Given the description of an element on the screen output the (x, y) to click on. 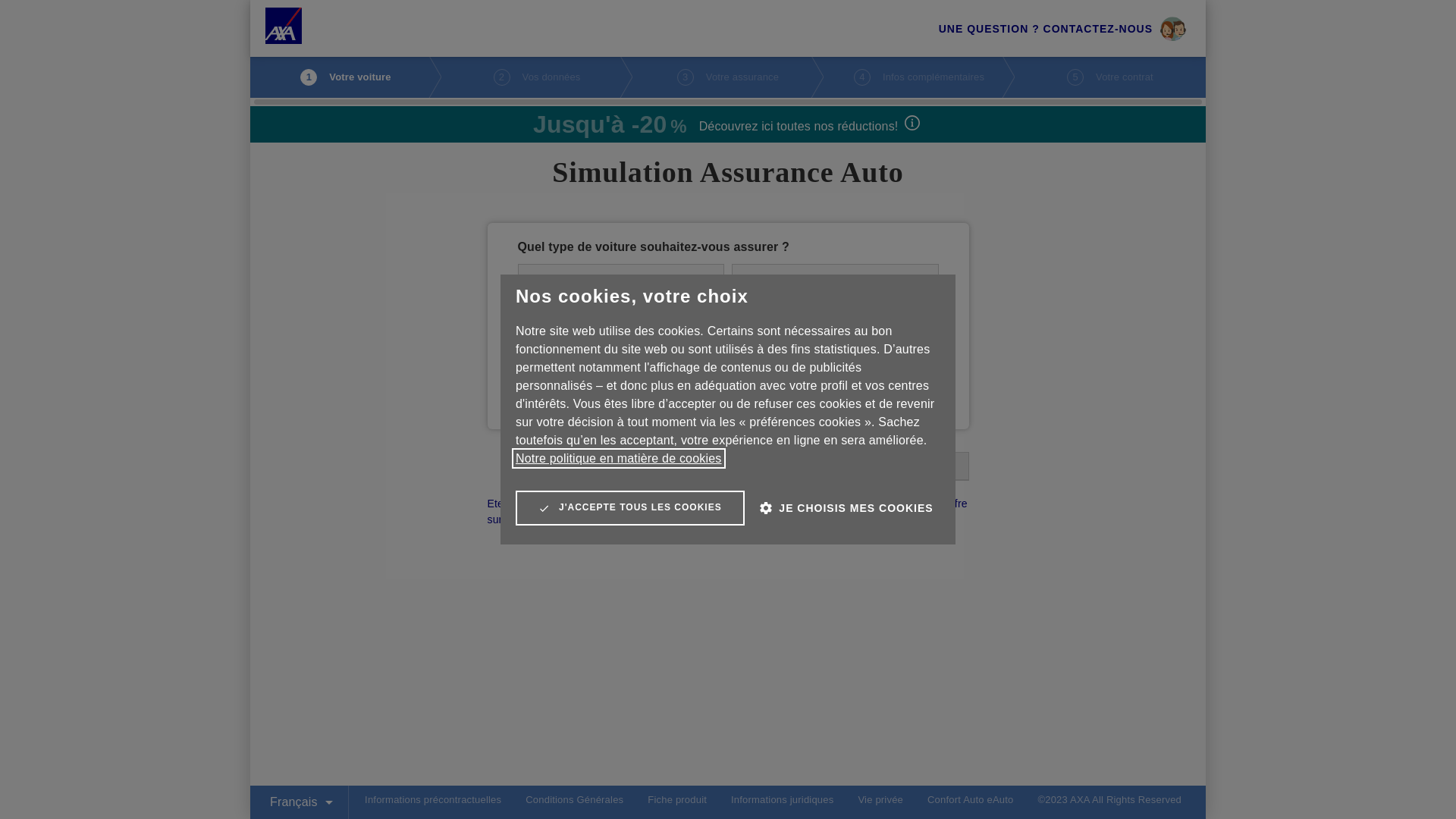
J'ACCEPTE TOUS LES COOKIES Element type: text (629, 507)
Confort Auto eAuto Element type: text (970, 798)
UNE QUESTION ? CONTACTEZ-NOUS Element type: text (1062, 28)
JE CHOISIS MES COOKIES Element type: text (845, 507)
SUIVANT Element type: text (914, 465)
Informations juridiques Element type: text (782, 798)
Fiche produit Element type: text (676, 798)
